Given the description of an element on the screen output the (x, y) to click on. 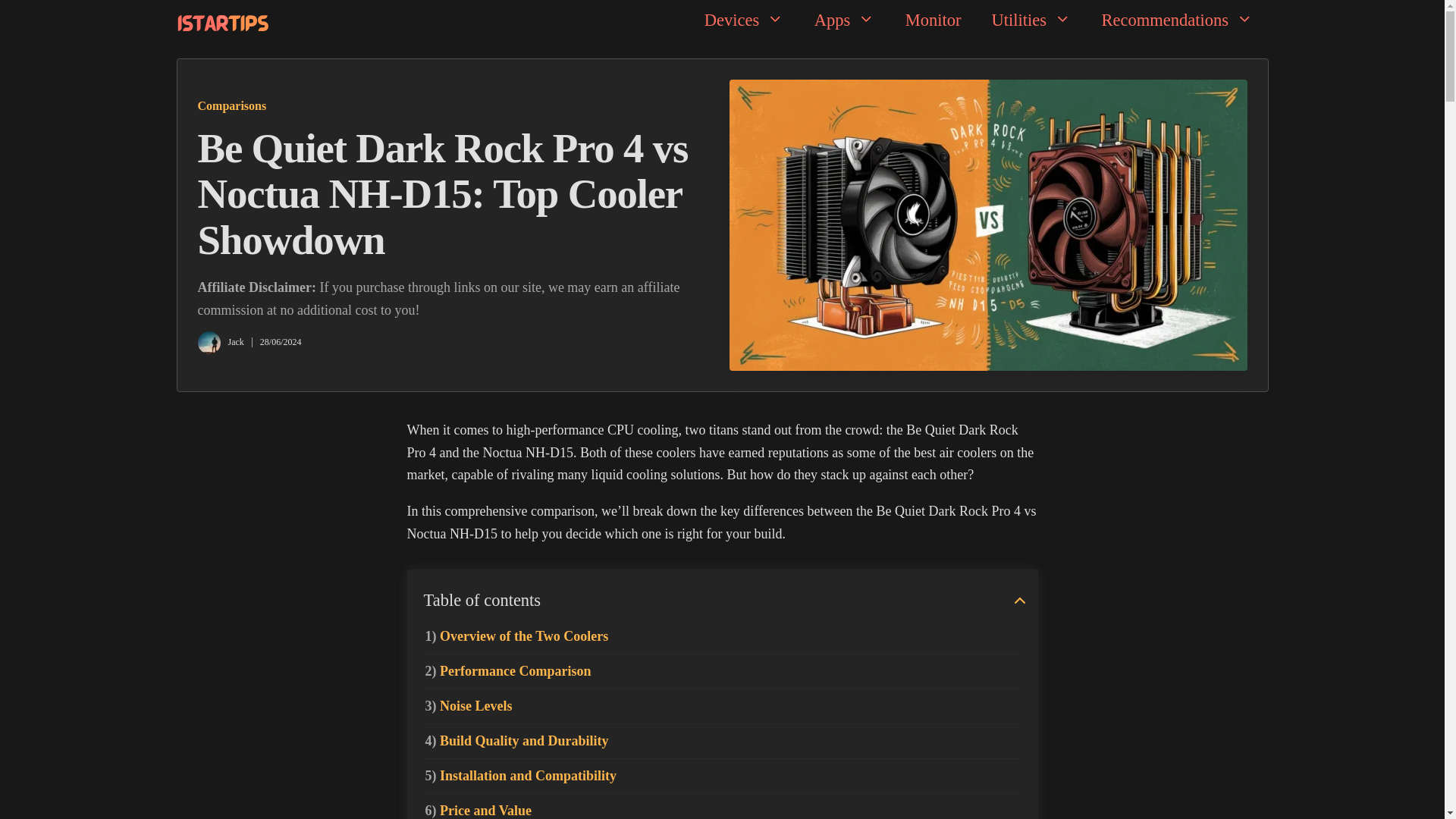
Utilities (1031, 20)
Comparisons (231, 105)
Build Quality and Durability (516, 741)
Performance Comparison (508, 671)
Overview of the Two Coolers (516, 636)
Installation and Compatibility (520, 775)
Devices (743, 20)
Overview of the Two Coolers (516, 636)
Price and Value (478, 811)
Monitor (932, 20)
iStarTips (221, 21)
Noise Levels (468, 706)
Recommendations (1177, 20)
Apps (844, 20)
Performance Comparison (508, 671)
